Given the description of an element on the screen output the (x, y) to click on. 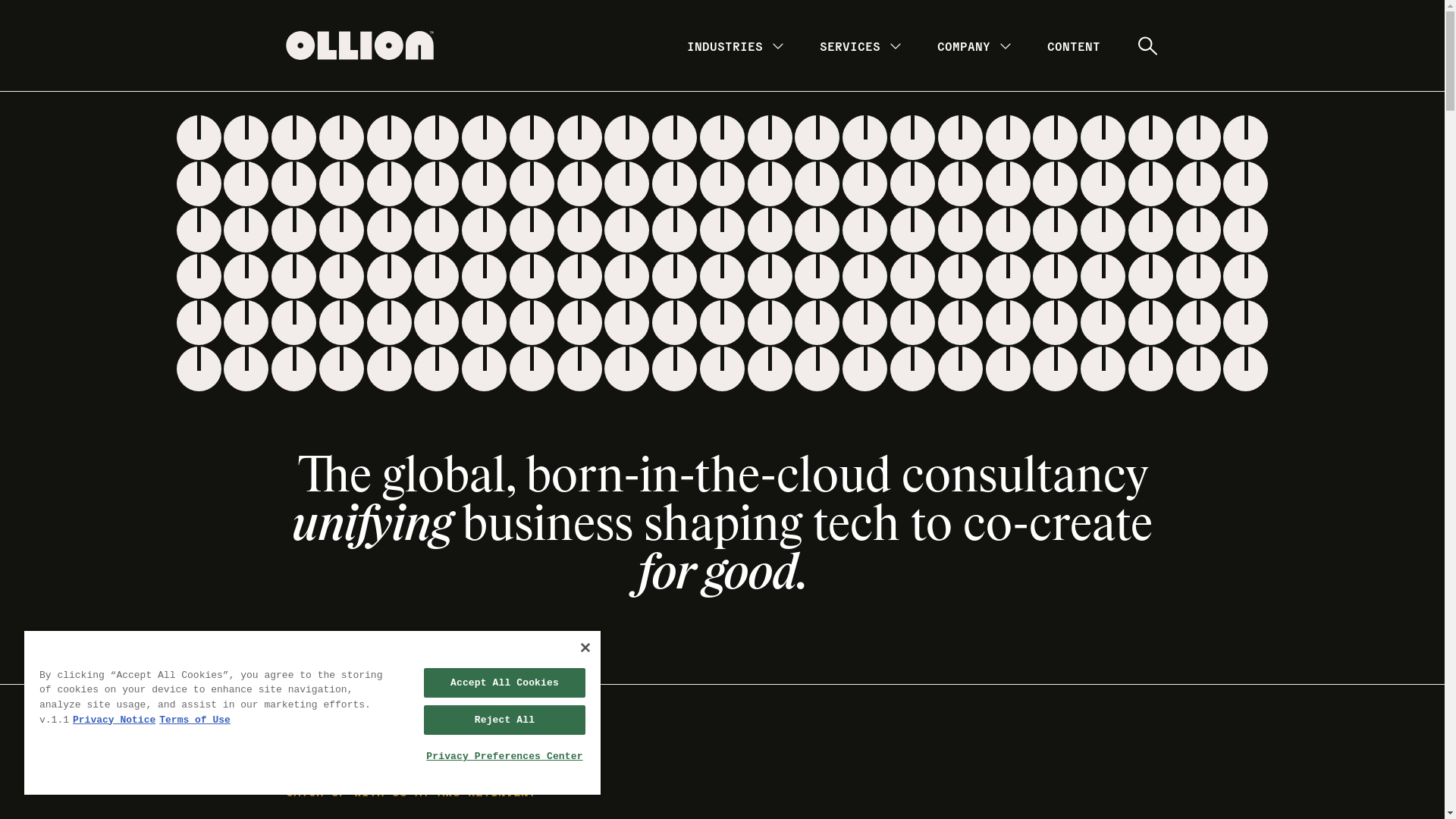
Terms of Use Element type: text (194, 719)
Accept All Cookies Element type: text (504, 682)
Privacy Notice Element type: text (113, 719)
Reject All Element type: text (504, 719)
Privacy Preferences Center Element type: text (504, 756)
CONTENT Element type: text (1072, 45)
